Given the description of an element on the screen output the (x, y) to click on. 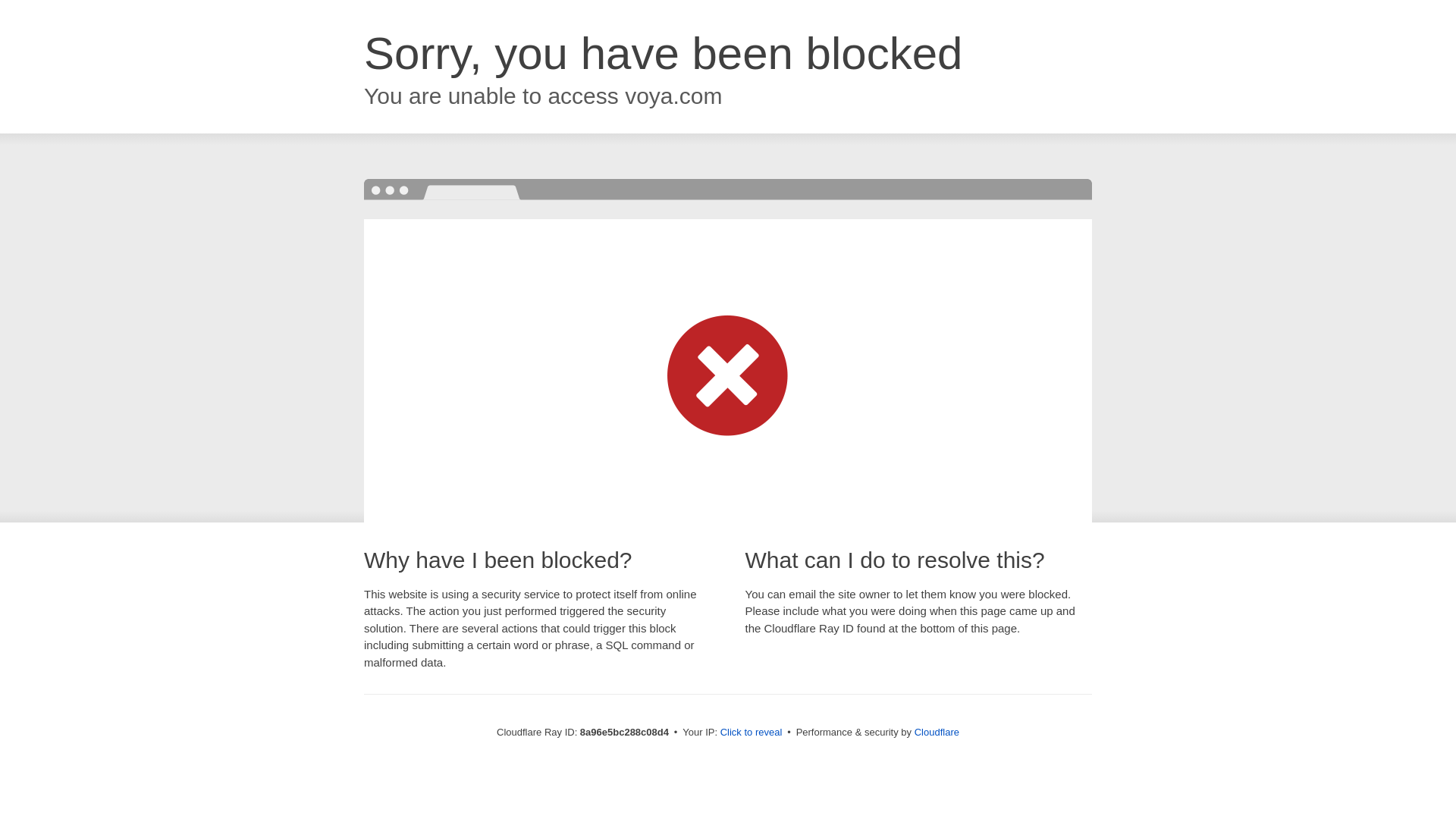
Click to reveal (751, 732)
Cloudflare (936, 731)
